Given the description of an element on the screen output the (x, y) to click on. 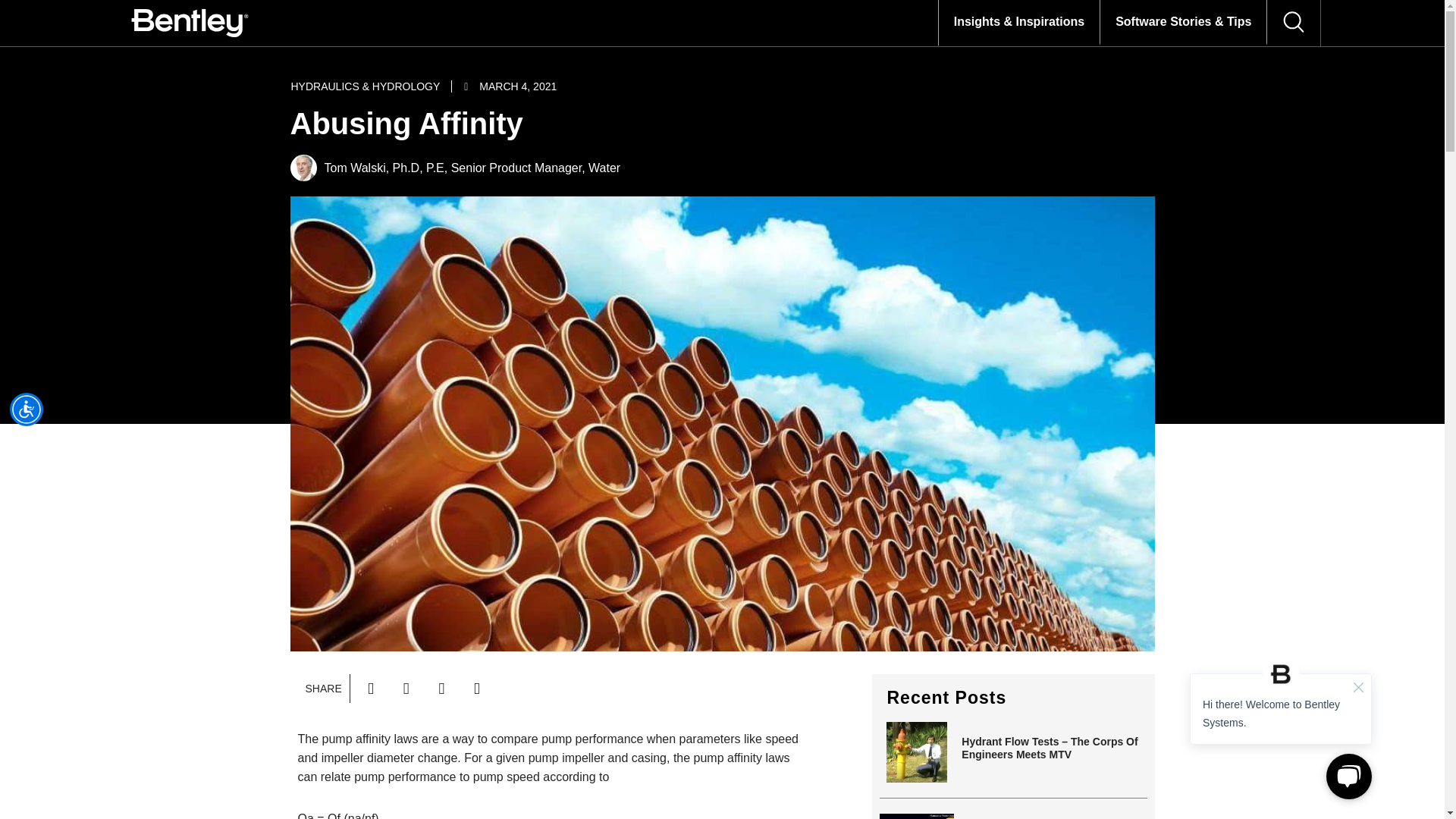
Accessibility Menu (26, 409)
Chat Widget (1280, 726)
